Given the description of an element on the screen output the (x, y) to click on. 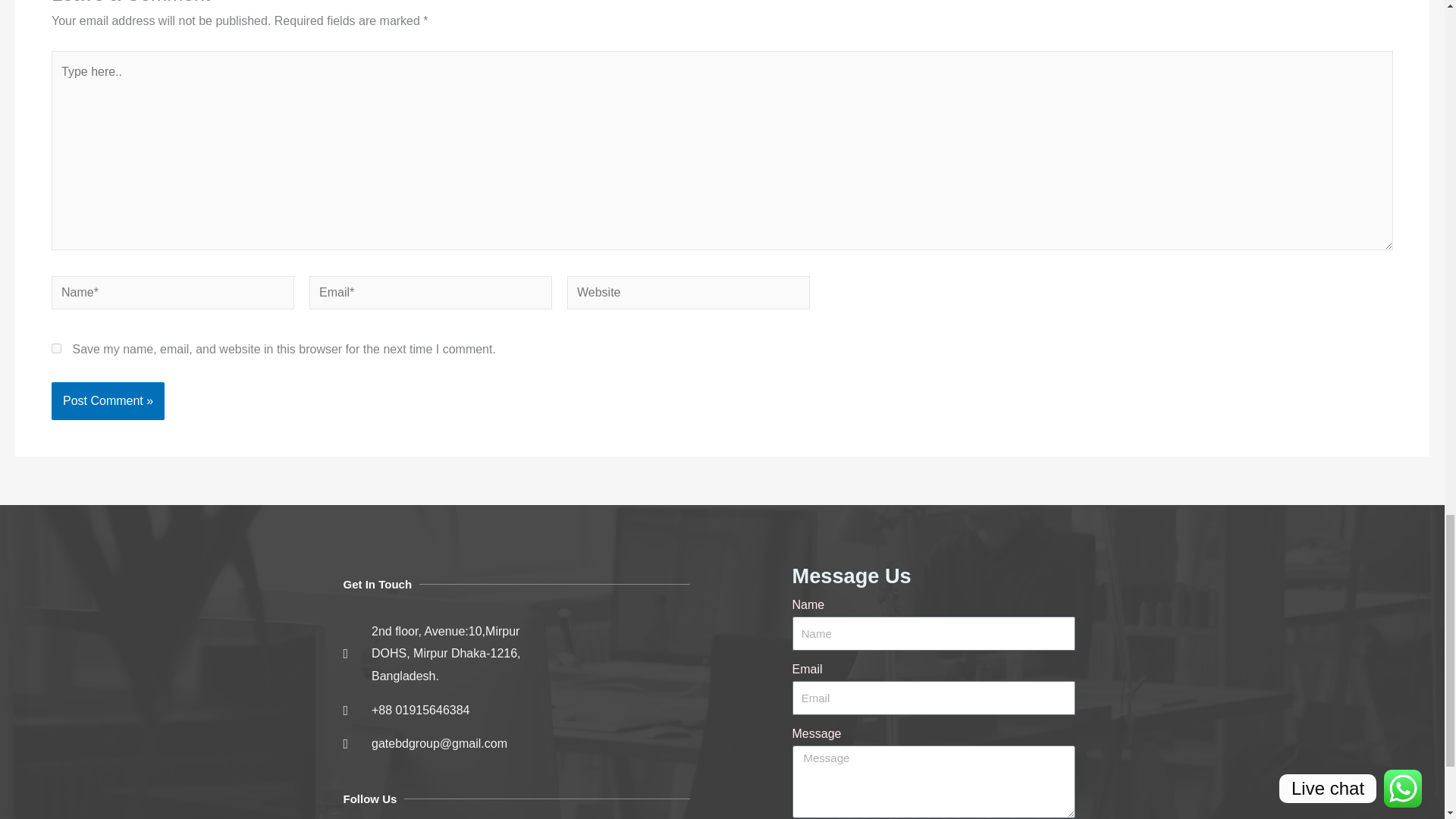
yes (55, 347)
